Given the description of an element on the screen output the (x, y) to click on. 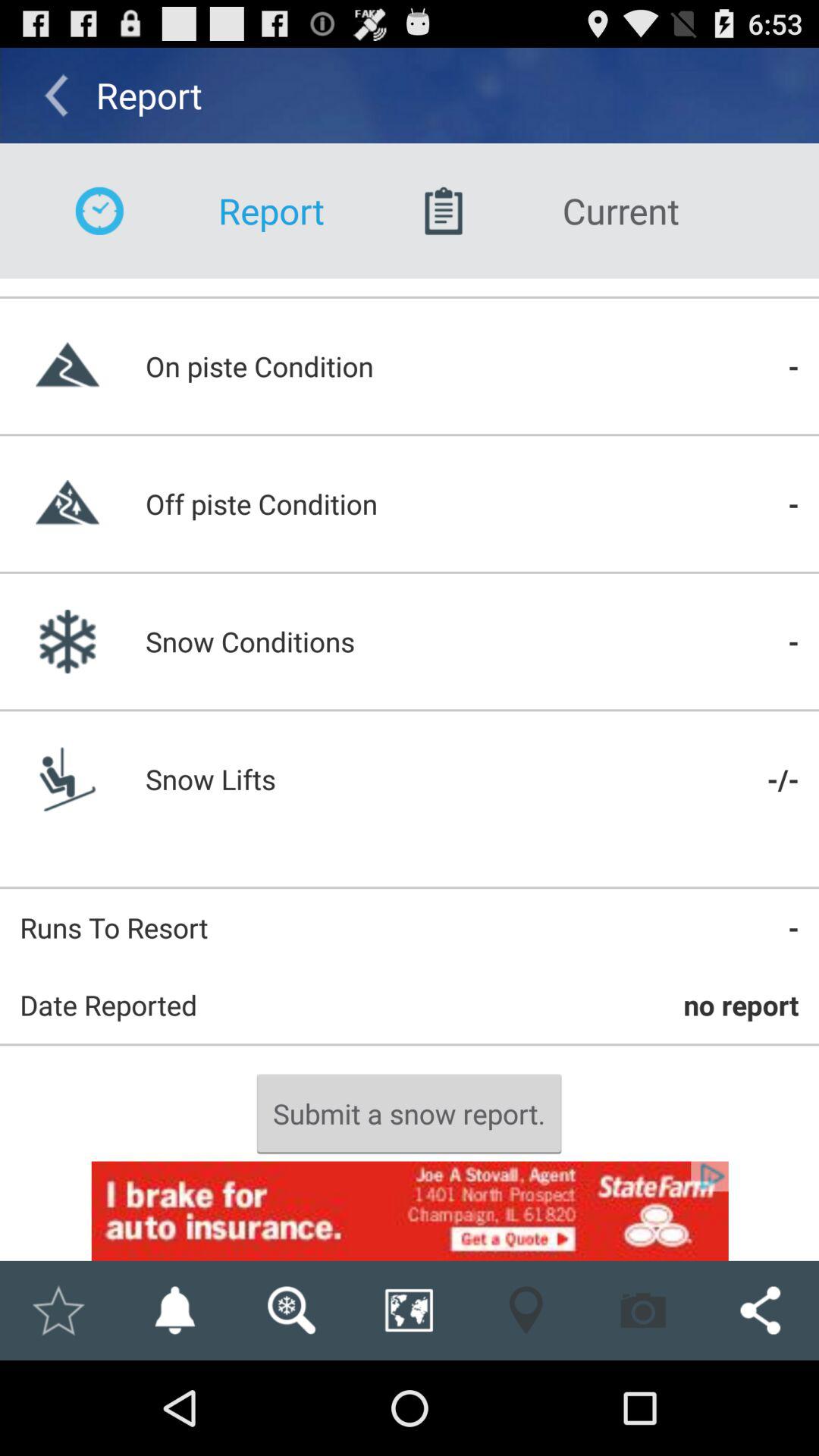
go to home page (58, 1310)
